Given the description of an element on the screen output the (x, y) to click on. 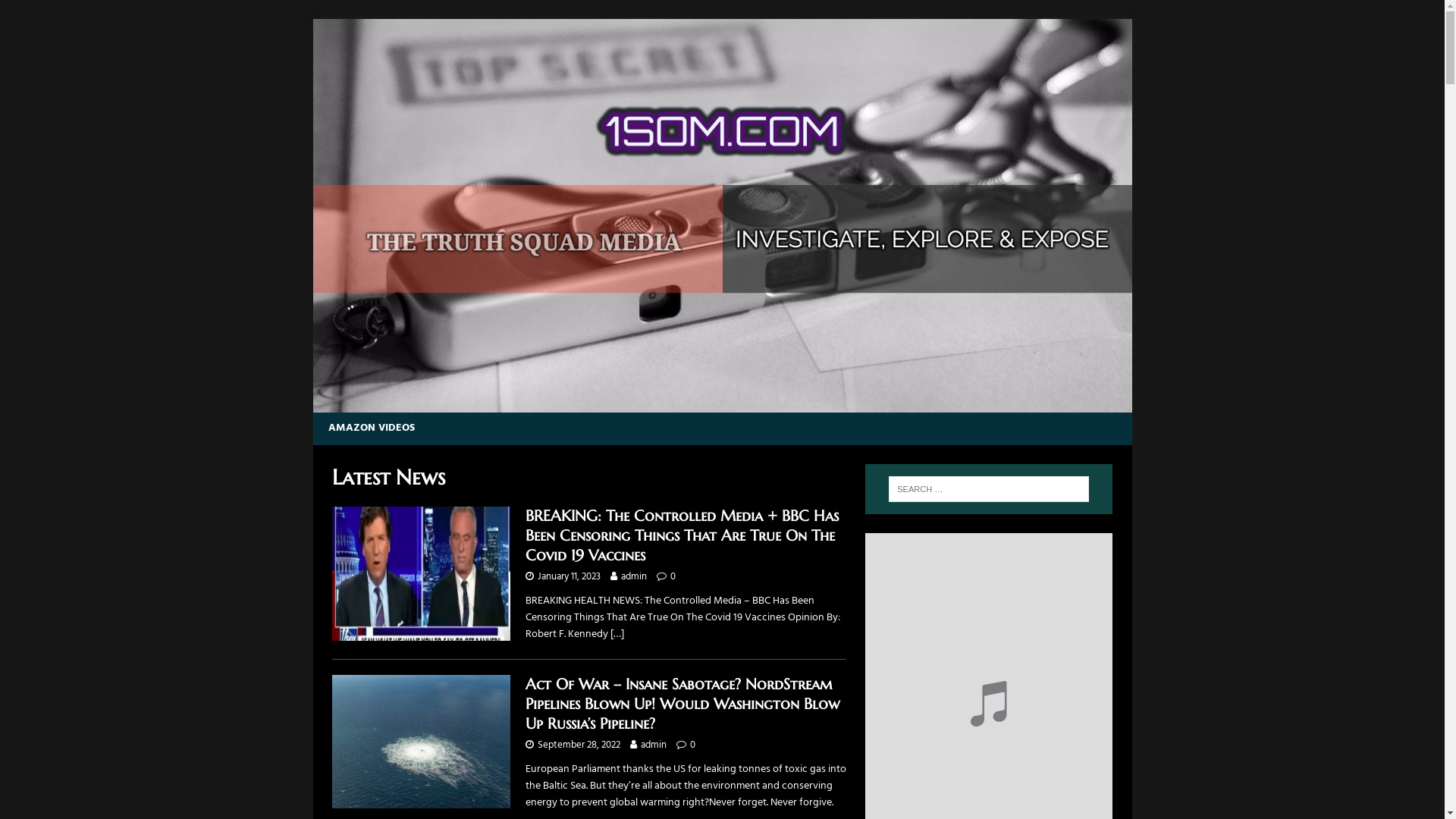
0 Element type: text (672, 576)
admin Element type: text (633, 576)
AMAZON VIDEOS Element type: text (370, 428)
admin Element type: text (652, 745)
Search Element type: text (56, 11)
0 Element type: text (692, 745)
1SOM.com - Truth Squad Media Element type: hover (721, 403)
